Given the description of an element on the screen output the (x, y) to click on. 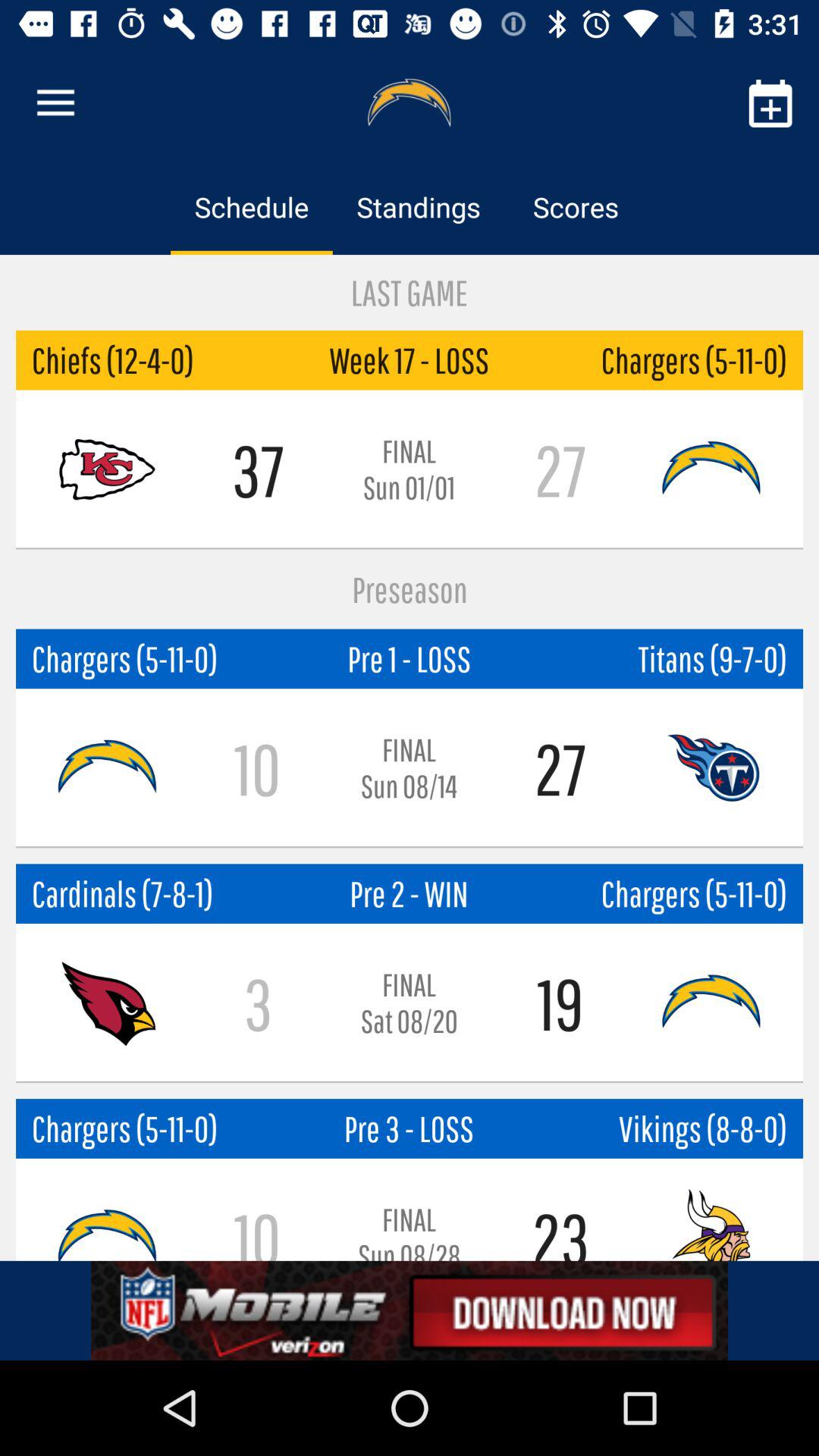
select the advertisement (409, 1310)
